Given the description of an element on the screen output the (x, y) to click on. 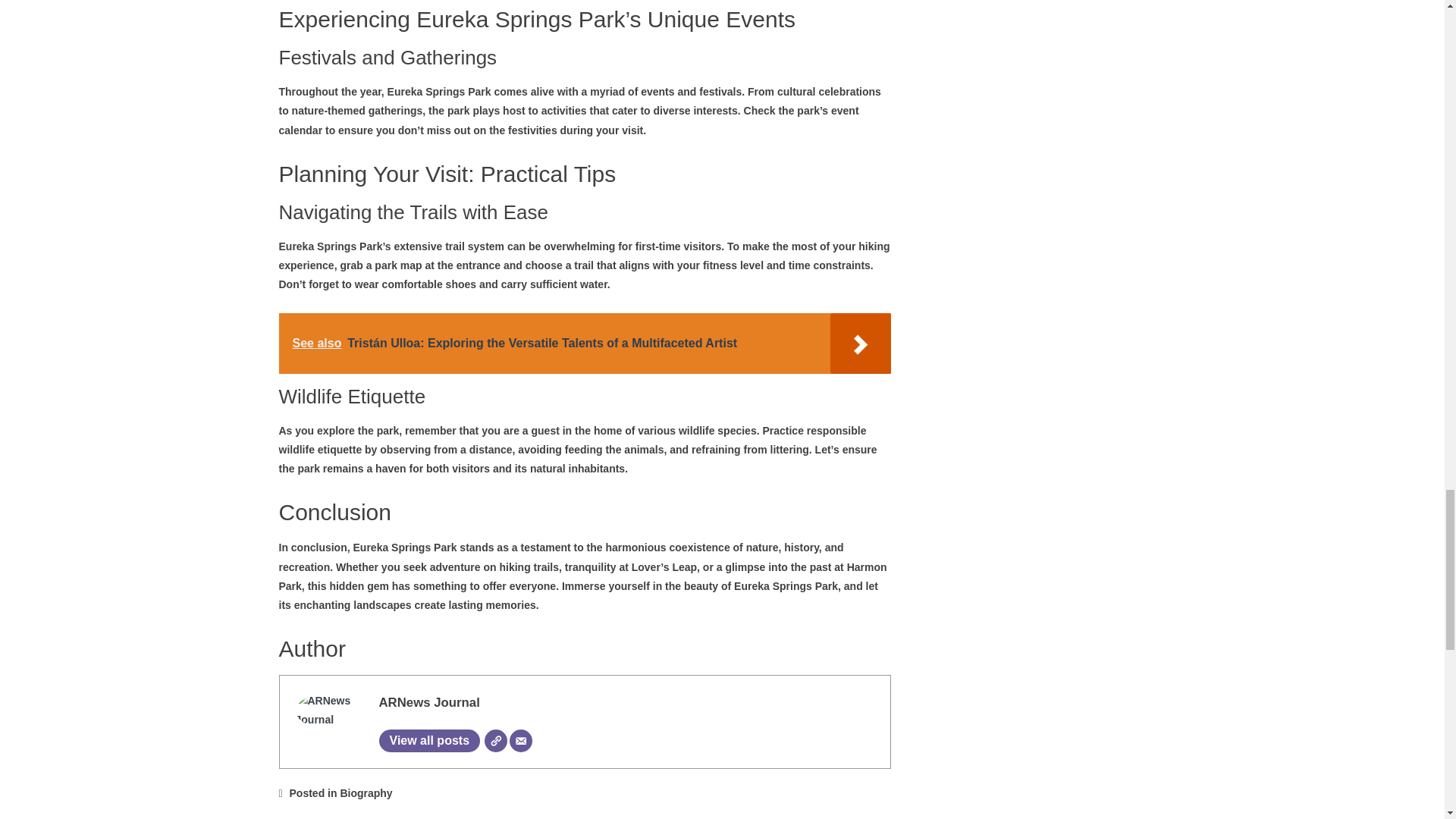
ARNews Journal (429, 702)
View all posts (429, 740)
Biography (365, 793)
ARNews Journal (429, 702)
View all posts (429, 740)
